Given the description of an element on the screen output the (x, y) to click on. 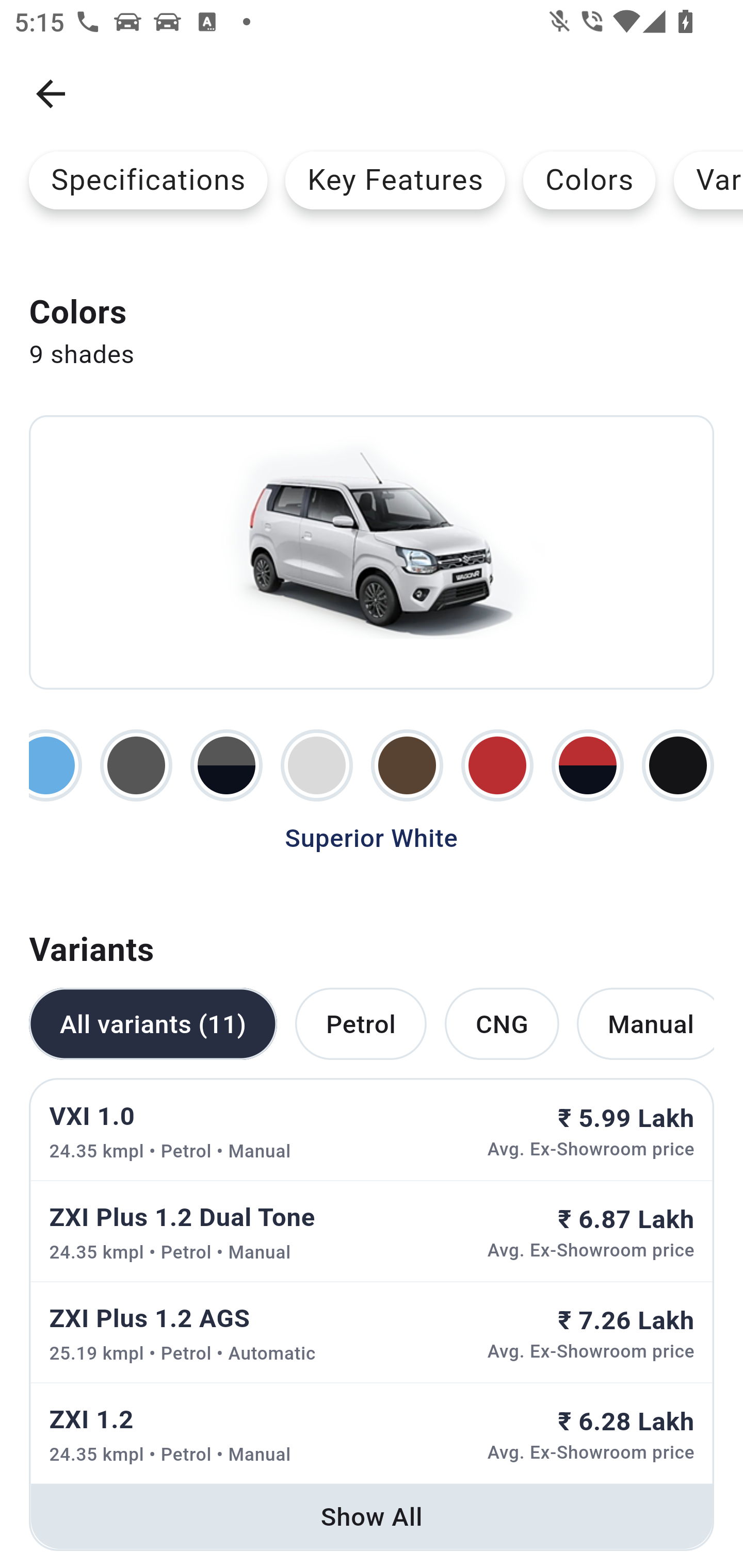
Back (50, 93)
Specifications (147, 180)
Key Features (395, 180)
Colors (589, 180)
All variants (11) (152, 1023)
Petrol (360, 1023)
CNG (501, 1023)
Manual (645, 1023)
Show All (371, 1516)
